Given the description of an element on the screen output the (x, y) to click on. 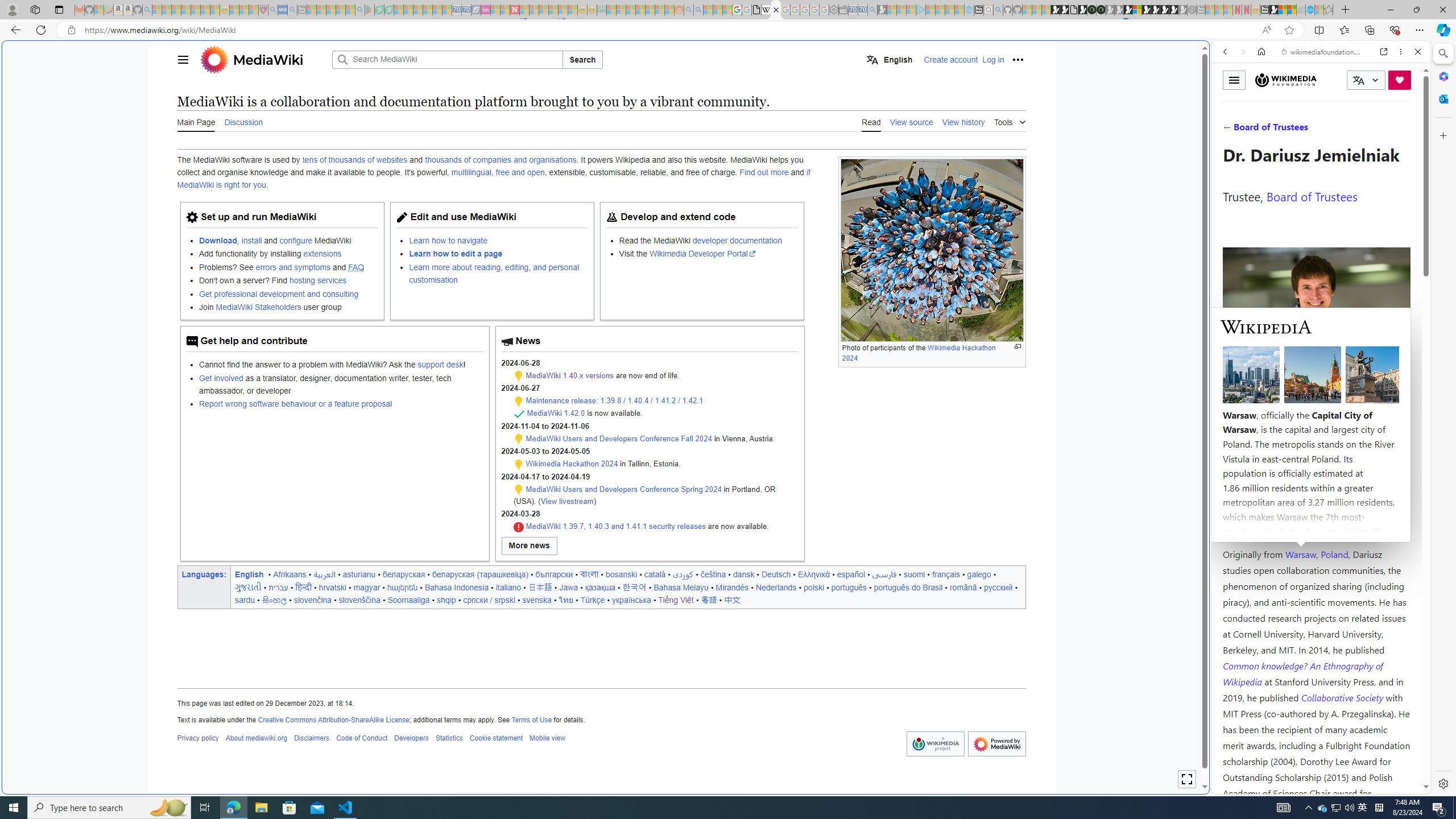
Main Page (195, 120)
Terms of Use (531, 719)
asturianu (358, 574)
The Weather Channel - MSN - Sleeping (175, 9)
MediaWiki 1.40.x versions (568, 375)
DITOGAMES AG Imprint - Sleeping (601, 9)
This site scope (1259, 102)
Cookie statement (495, 738)
Search the web (1326, 78)
FAQ (355, 266)
